Given the description of an element on the screen output the (x, y) to click on. 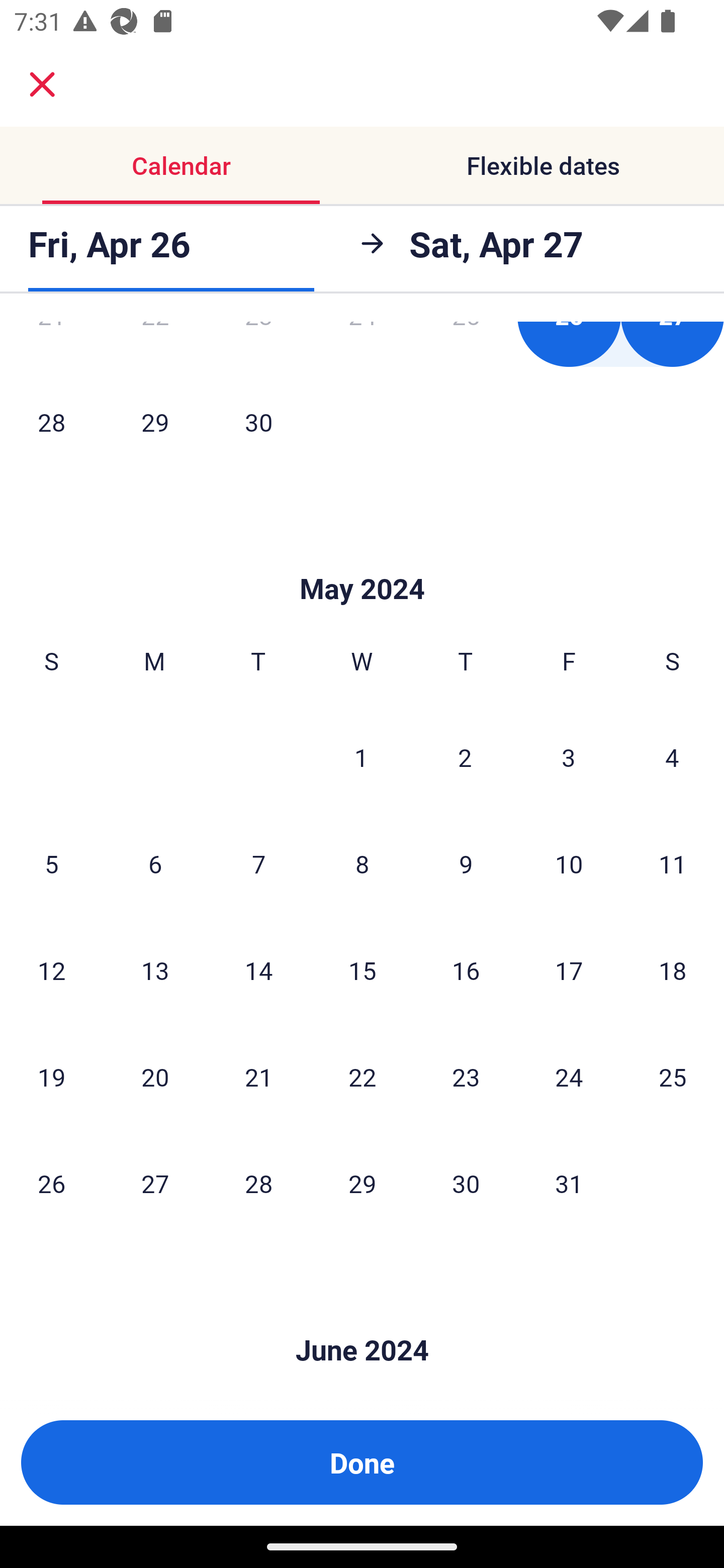
close. (42, 84)
Flexible dates (542, 164)
28 Sunday, April 28, 2024 (51, 421)
29 Monday, April 29, 2024 (155, 421)
30 Tuesday, April 30, 2024 (258, 421)
Skip to Done (362, 557)
1 Wednesday, May 1, 2024 (361, 757)
2 Thursday, May 2, 2024 (464, 757)
3 Friday, May 3, 2024 (568, 757)
4 Saturday, May 4, 2024 (672, 757)
5 Sunday, May 5, 2024 (51, 863)
6 Monday, May 6, 2024 (155, 863)
7 Tuesday, May 7, 2024 (258, 863)
8 Wednesday, May 8, 2024 (362, 863)
9 Thursday, May 9, 2024 (465, 863)
10 Friday, May 10, 2024 (569, 863)
11 Saturday, May 11, 2024 (672, 863)
12 Sunday, May 12, 2024 (51, 970)
13 Monday, May 13, 2024 (155, 970)
14 Tuesday, May 14, 2024 (258, 970)
15 Wednesday, May 15, 2024 (362, 970)
16 Thursday, May 16, 2024 (465, 970)
17 Friday, May 17, 2024 (569, 970)
18 Saturday, May 18, 2024 (672, 970)
19 Sunday, May 19, 2024 (51, 1076)
20 Monday, May 20, 2024 (155, 1076)
21 Tuesday, May 21, 2024 (258, 1076)
22 Wednesday, May 22, 2024 (362, 1076)
23 Thursday, May 23, 2024 (465, 1076)
24 Friday, May 24, 2024 (569, 1076)
25 Saturday, May 25, 2024 (672, 1076)
26 Sunday, May 26, 2024 (51, 1183)
27 Monday, May 27, 2024 (155, 1183)
28 Tuesday, May 28, 2024 (258, 1183)
29 Wednesday, May 29, 2024 (362, 1183)
30 Thursday, May 30, 2024 (465, 1183)
31 Friday, May 31, 2024 (569, 1183)
Skip to Done (362, 1319)
Done (361, 1462)
